Given the description of an element on the screen output the (x, y) to click on. 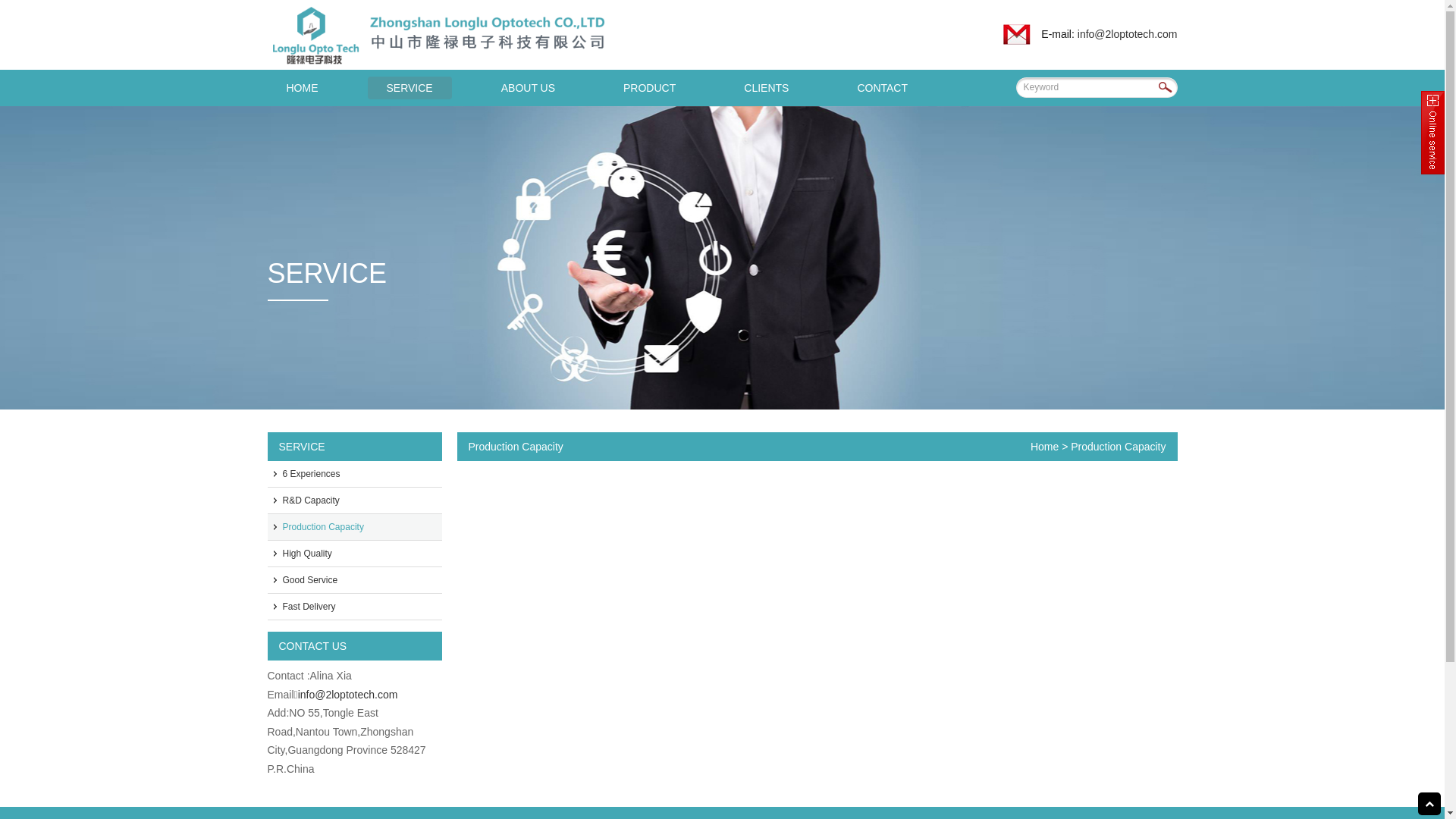
SERVICE Element type: text (409, 87)
ABOUT US Element type: text (528, 87)
info@2loptotech.com Element type: text (1127, 34)
info@2loptotech.com Element type: text (348, 694)
Home Element type: text (1044, 446)
CLIENTS Element type: text (765, 87)
Production Capacity Element type: text (353, 527)
search Element type: text (1167, 87)
6 Experiences Element type: text (353, 474)
High Quality Element type: text (353, 553)
CONTACT Element type: text (881, 87)
HOME Element type: text (301, 87)
Good Service Element type: text (353, 580)
Fast Delivery Element type: text (353, 606)
PRODUCT Element type: text (649, 87)
R&D Capacity Element type: text (353, 500)
